Given the description of an element on the screen output the (x, y) to click on. 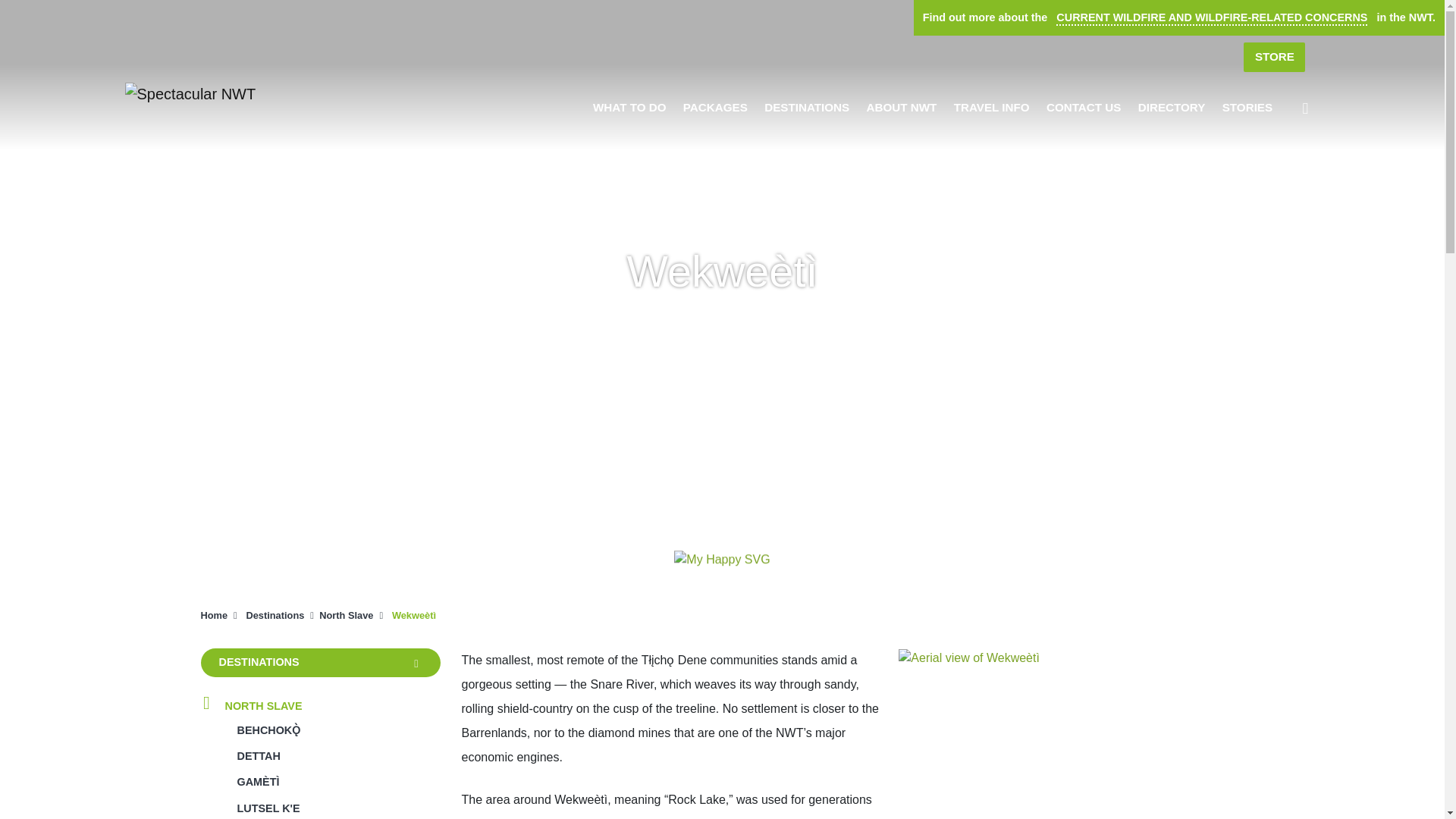
Packages (715, 107)
CURRENT WILDFIRE AND WILDFIRE-RELATED CONCERNS (1211, 17)
TRAVEL INFO (991, 107)
STORE (1273, 57)
DESTINATIONS (807, 107)
What to Do (628, 107)
PACKAGES (715, 107)
Store (1273, 57)
Spectacular NWT (189, 92)
WHAT TO DO (628, 107)
ABOUT NWT (901, 107)
